Given the description of an element on the screen output the (x, y) to click on. 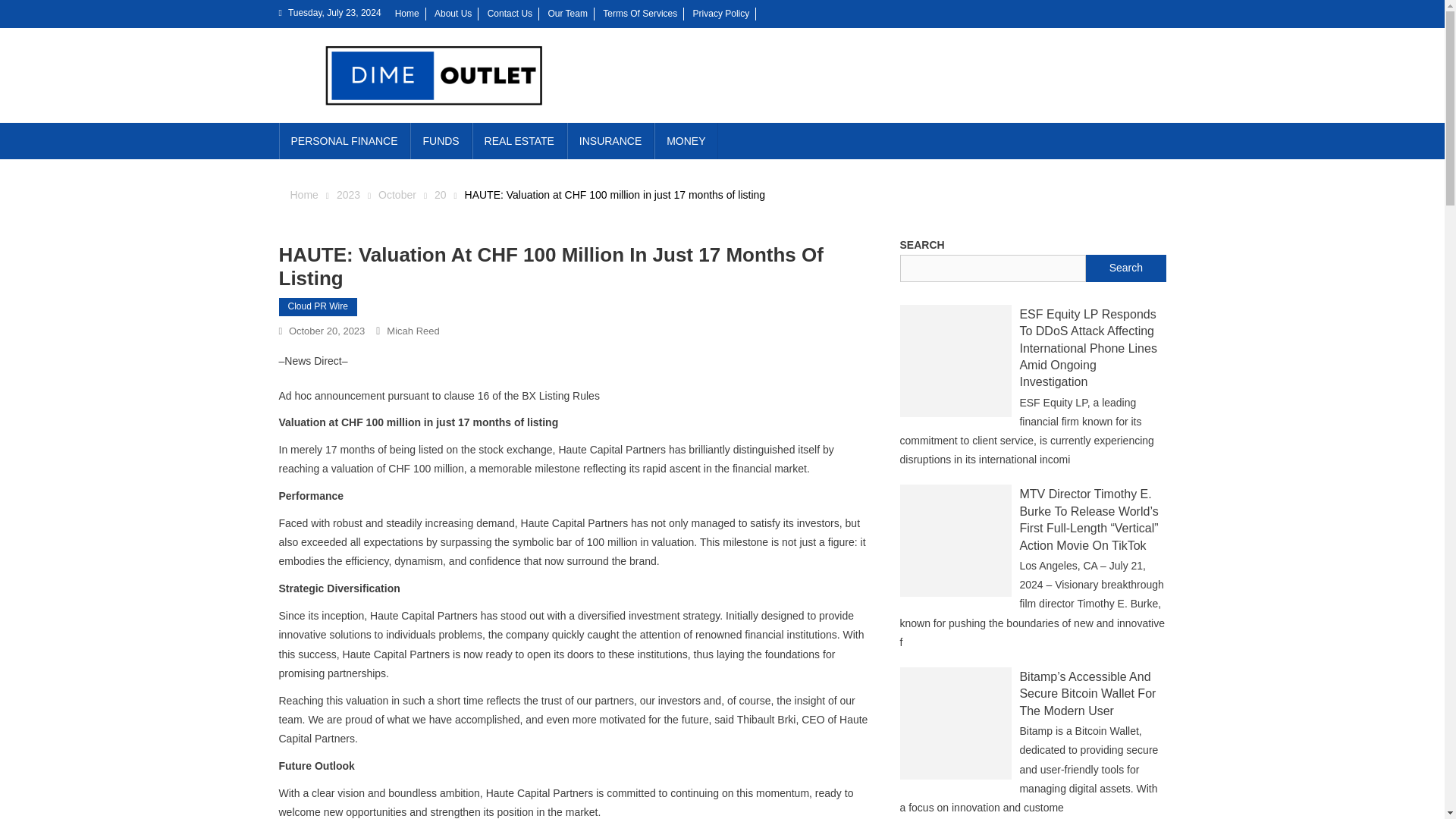
October 20, 2023 (326, 330)
20 (439, 194)
October (397, 194)
Contact Us (509, 13)
MONEY (685, 140)
2023 (347, 194)
About Us (452, 13)
Home (406, 13)
Terms Of Services (639, 13)
Micah Reed (413, 330)
Home (303, 194)
Cloud PR Wire (317, 307)
INSURANCE (610, 140)
Our Team (566, 13)
REAL ESTATE (518, 140)
